Given the description of an element on the screen output the (x, y) to click on. 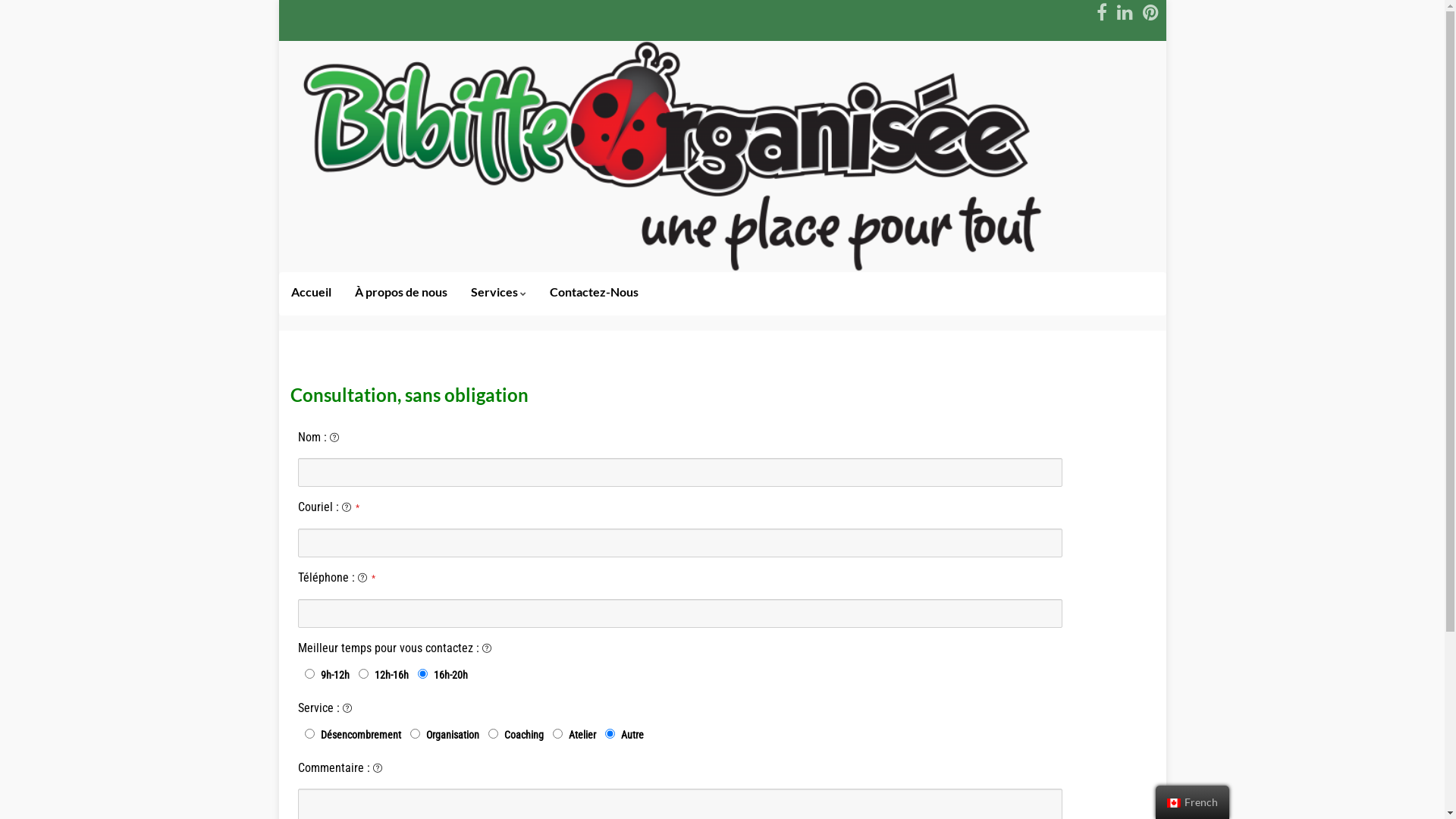
Go back to the front page Element type: hover (722, 156)
French Element type: hover (1173, 802)
Pinterest Element type: hover (1149, 11)
  Element type: text (722, 156)
Contactez-Nous Element type: text (593, 293)
Facebook Element type: hover (1101, 11)
Accueil Element type: text (310, 293)
Services Element type: text (498, 293)
LinkedIn Element type: hover (1124, 11)
